Given the description of an element on the screen output the (x, y) to click on. 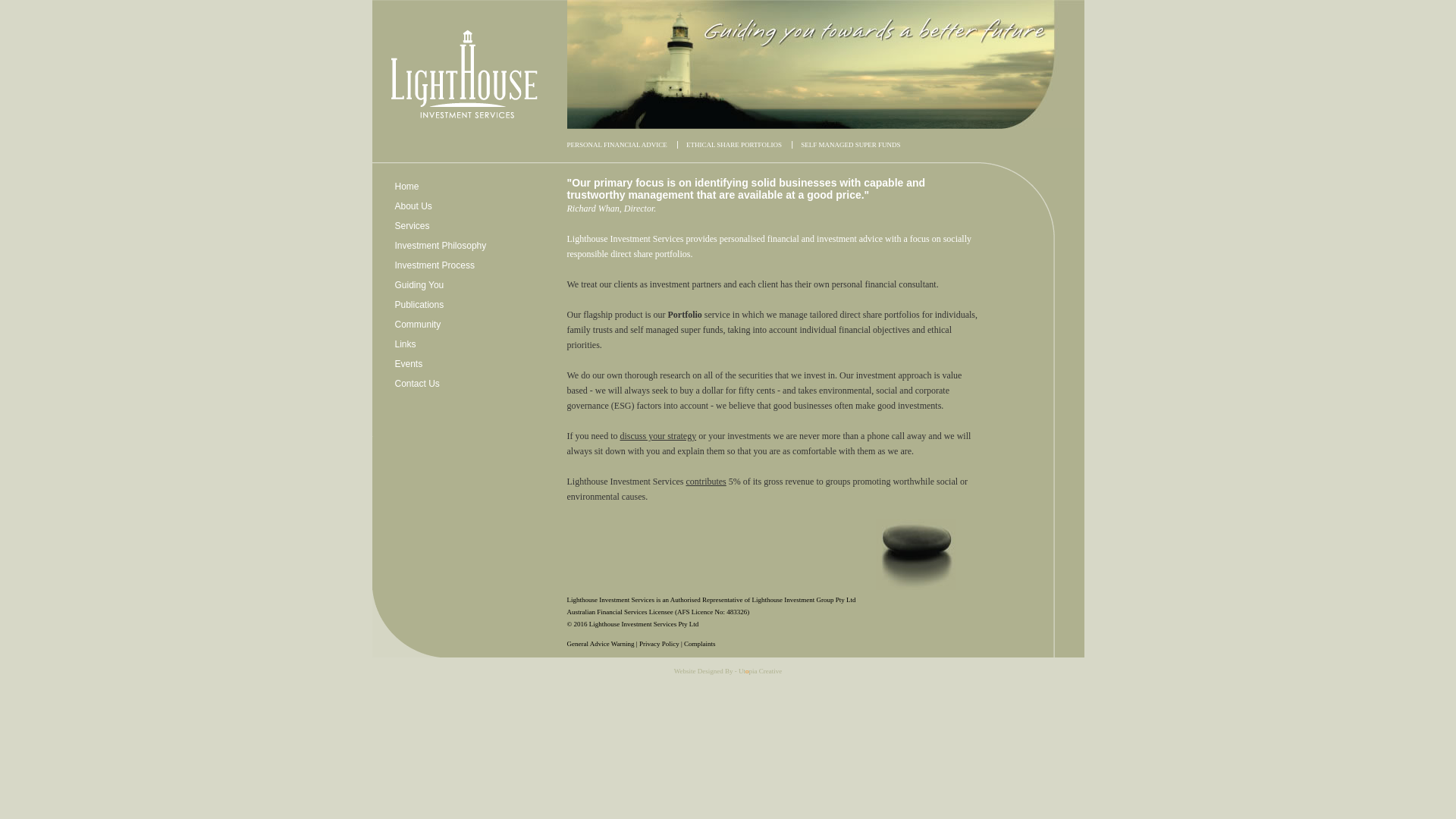
contributes Element type: text (705, 485)
Publications Element type: text (418, 308)
Investment Philosophy Element type: text (440, 249)
Website Designed By - Utopia Creative Element type: text (728, 674)
ETHICAL SHARE PORTFOLIOS Element type: text (734, 148)
PERSONAL FINANCIAL ADVICE Element type: text (618, 148)
Events Element type: text (408, 367)
SELF MANAGED SUPER FUNDS Element type: text (850, 148)
Complaints Element type: text (699, 647)
discuss your strategy Element type: text (657, 439)
Privacy Policy Element type: text (659, 647)
Guiding You Element type: text (418, 288)
About Us Element type: text (412, 209)
Home Element type: text (406, 190)
Links Element type: text (404, 347)
Investment Process Element type: text (433, 269)
Services Element type: text (411, 229)
Contact Us Element type: text (416, 387)
General Advice Warning Element type: text (601, 647)
Community Element type: text (417, 328)
